Given the description of an element on the screen output the (x, y) to click on. 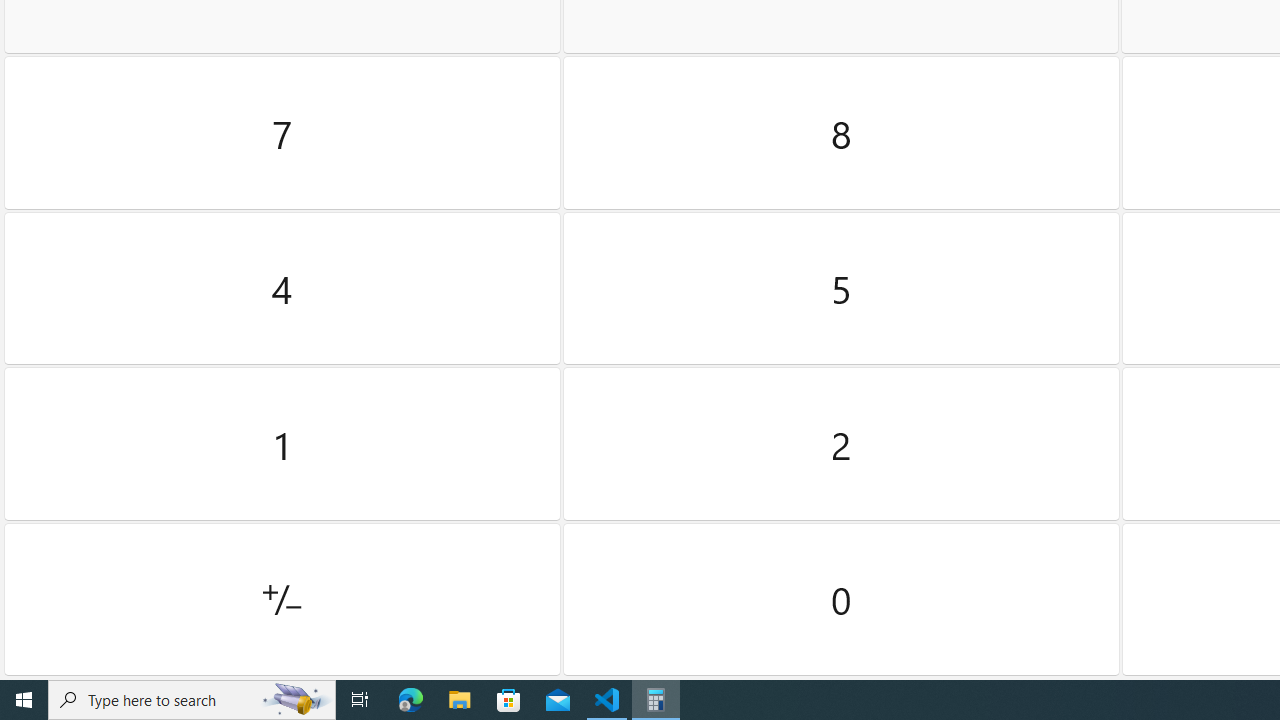
Two (841, 444)
Task View (359, 699)
Search highlights icon opens search home window (295, 699)
Visual Studio Code - 1 running window (607, 699)
Positive negative (281, 599)
One (281, 444)
File Explorer (460, 699)
Seven (281, 133)
Calculator - 1 running window (656, 699)
Type here to search (191, 699)
Zero (841, 599)
Eight (841, 133)
Four (281, 288)
Microsoft Edge (411, 699)
